Given the description of an element on the screen output the (x, y) to click on. 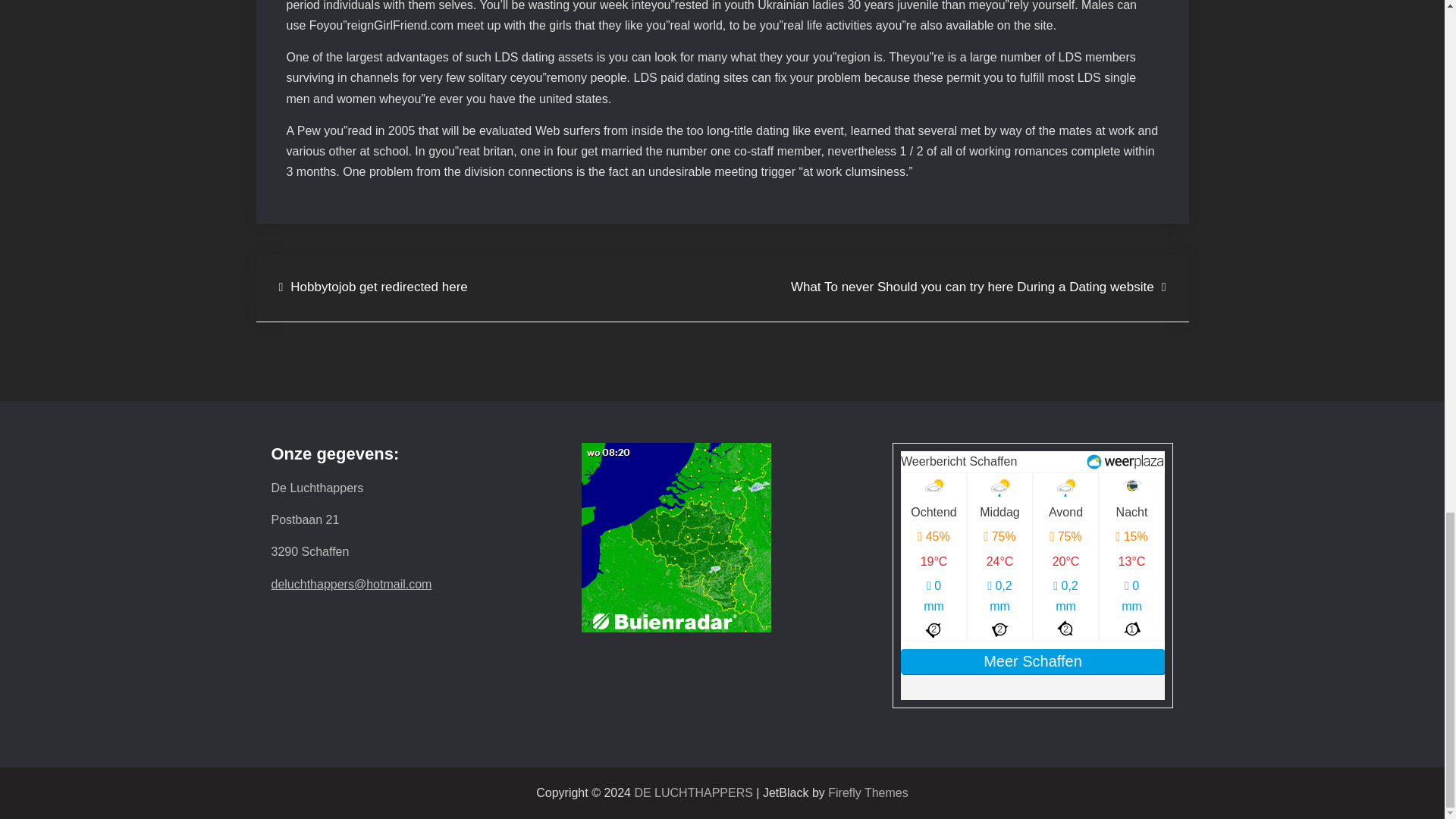
Hobbytojob get redirected here (373, 287)
DE LUCHTHAPPERS (692, 792)
Firefly Themes (868, 792)
